Given the description of an element on the screen output the (x, y) to click on. 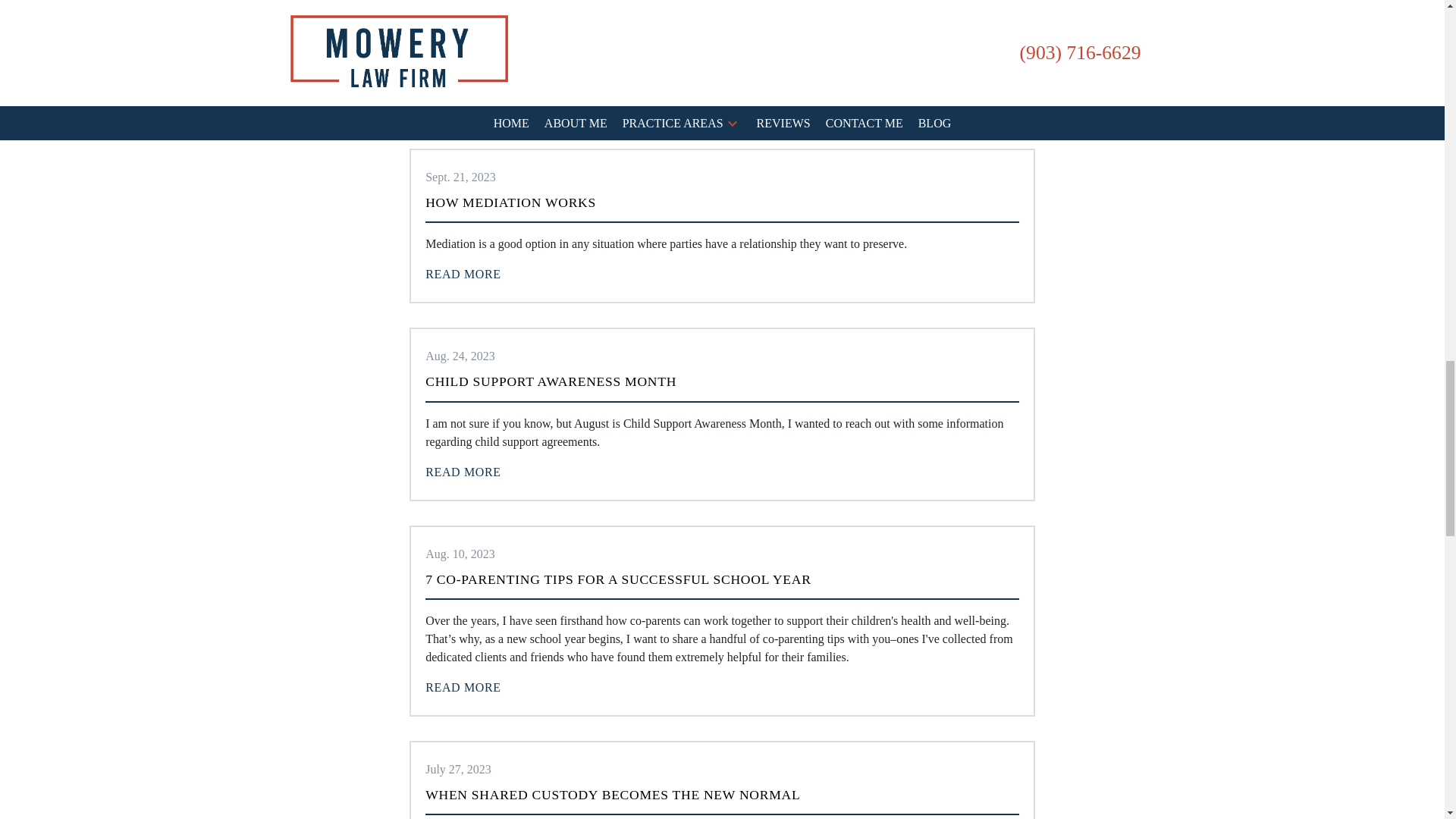
READ MORE (462, 94)
READ MORE (462, 273)
CHILD SUPPORT AWARENESS MONTH (551, 381)
HOW MEDIATION WORKS (510, 201)
READ MORE (462, 472)
